Given the description of an element on the screen output the (x, y) to click on. 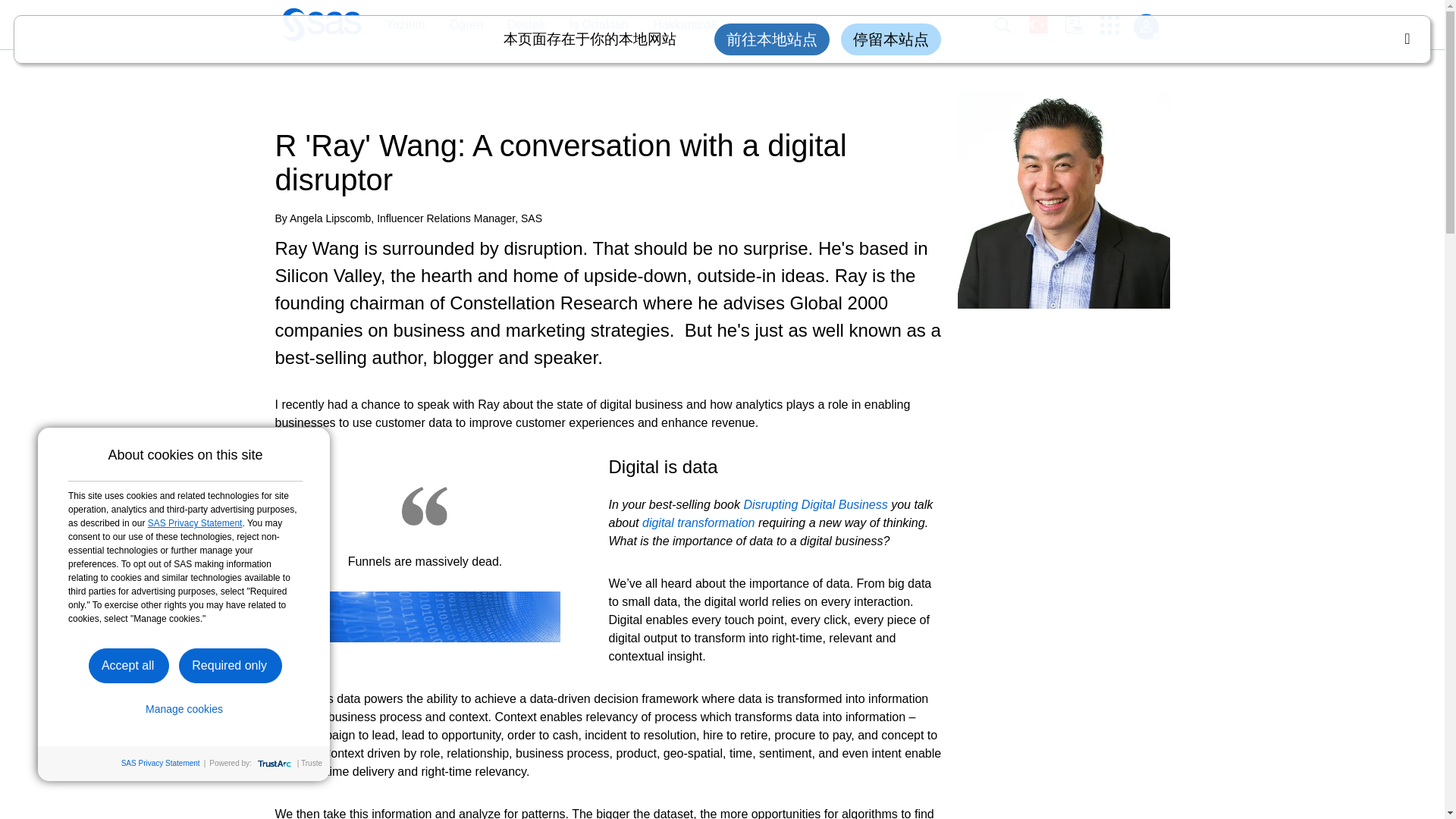
Glowing futuristic binary code spiral   (424, 616)
SAS Siteleri (1114, 25)
Ray Wang (1062, 199)
Destek (526, 24)
Destek (518, 24)
Arama (1010, 25)
